Given the description of an element on the screen output the (x, y) to click on. 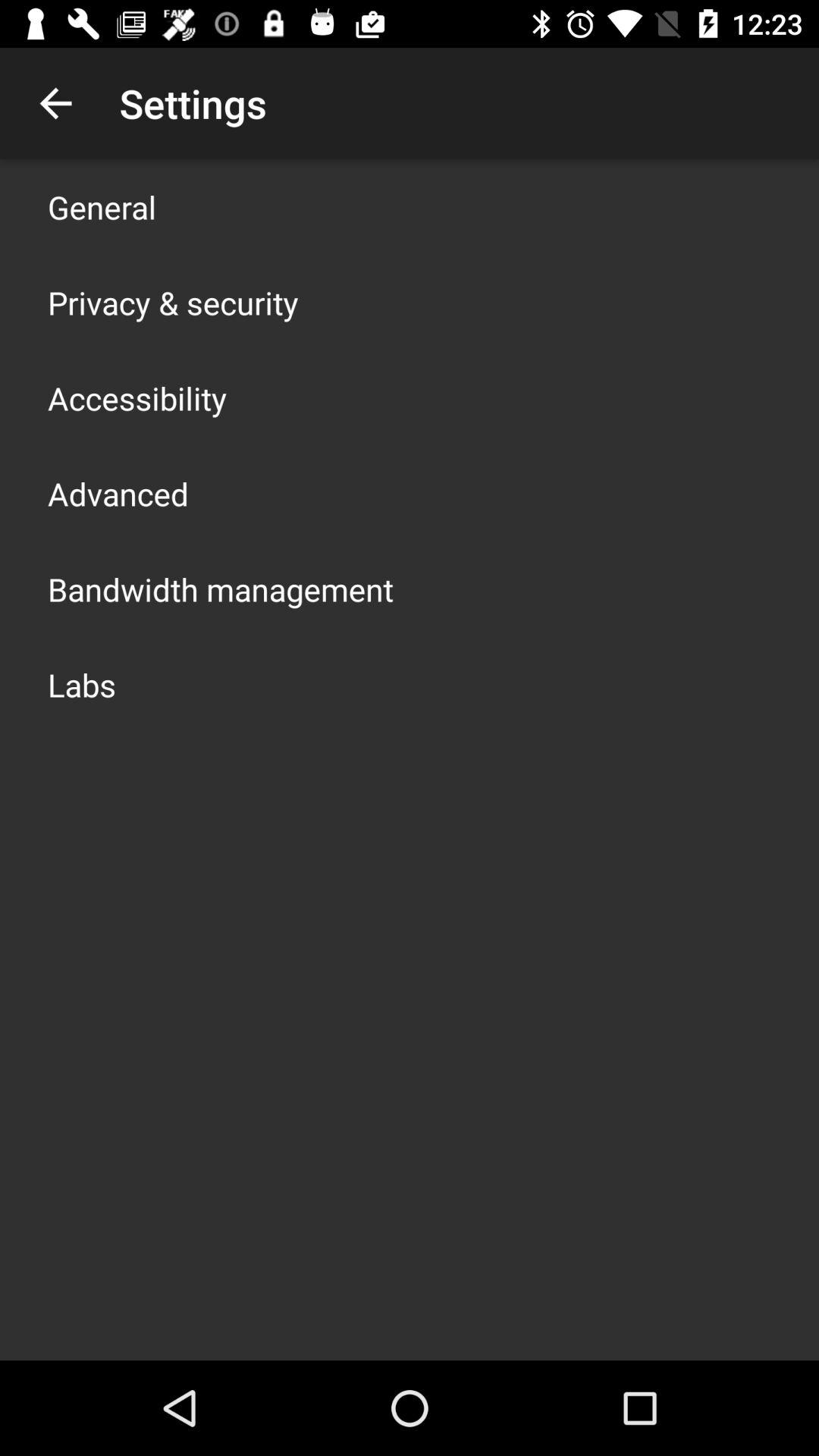
swipe until the general (101, 206)
